Given the description of an element on the screen output the (x, y) to click on. 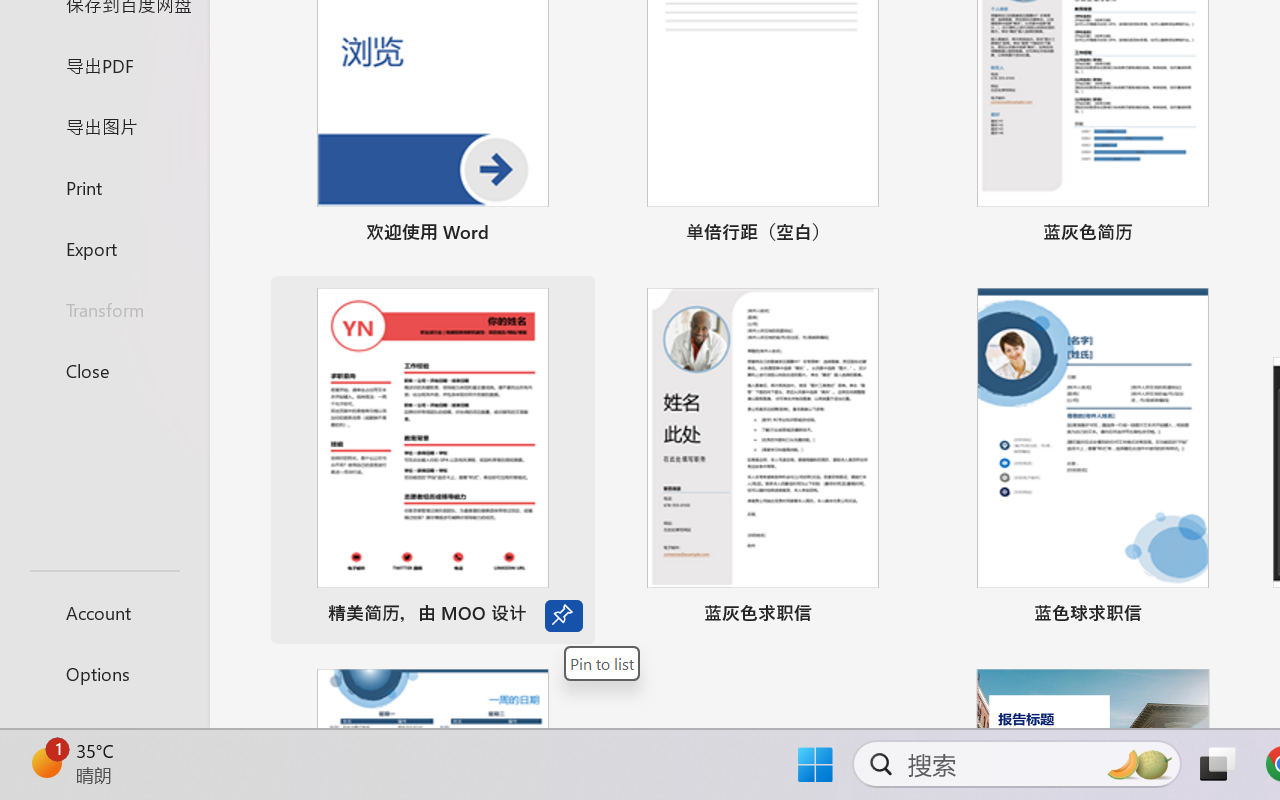
Export (104, 248)
Account (104, 612)
Pin to list (1223, 616)
Pin to list (602, 663)
Print (104, 186)
Options (104, 673)
